Given the description of an element on the screen output the (x, y) to click on. 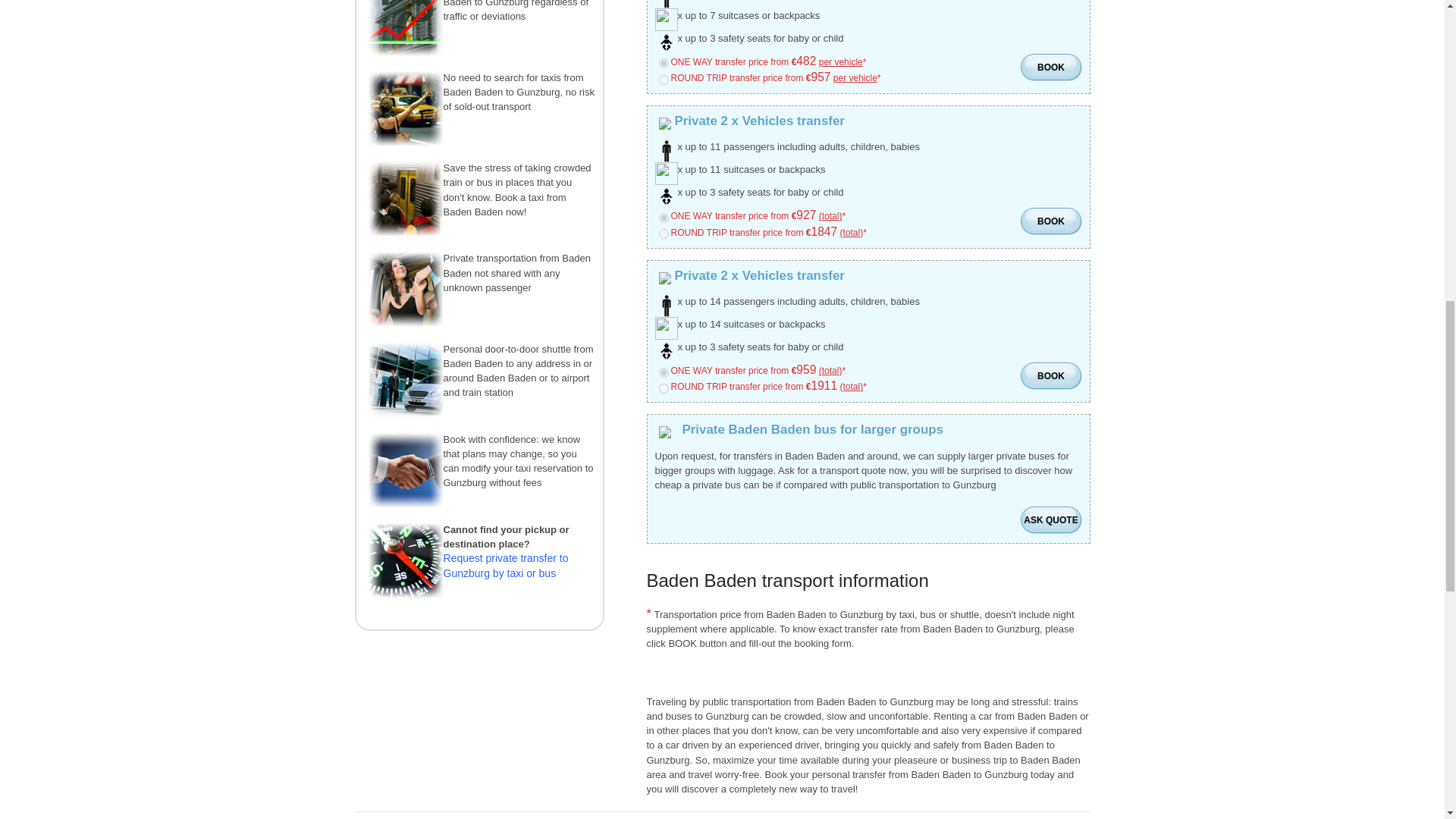
BOOK (1050, 222)
on (663, 388)
ASK QUOTE (1050, 520)
Book 2 x Vehicles transport from Baden Baden to Gunzburg (1050, 222)
on (663, 217)
on (663, 62)
Build a customized transfer to Gunzburg (504, 565)
Book Minivan transport from Baden Baden to Gunzburg (1050, 68)
Book private transport from Baden Baden to Gunzburg (1050, 520)
on (663, 234)
Book 2 x Vehicles transport from Baden Baden to Gunzburg (1050, 376)
on (663, 80)
BOOK (1050, 376)
Request private transfer to Gunzburg by taxi or bus (504, 565)
on (663, 371)
